Given the description of an element on the screen output the (x, y) to click on. 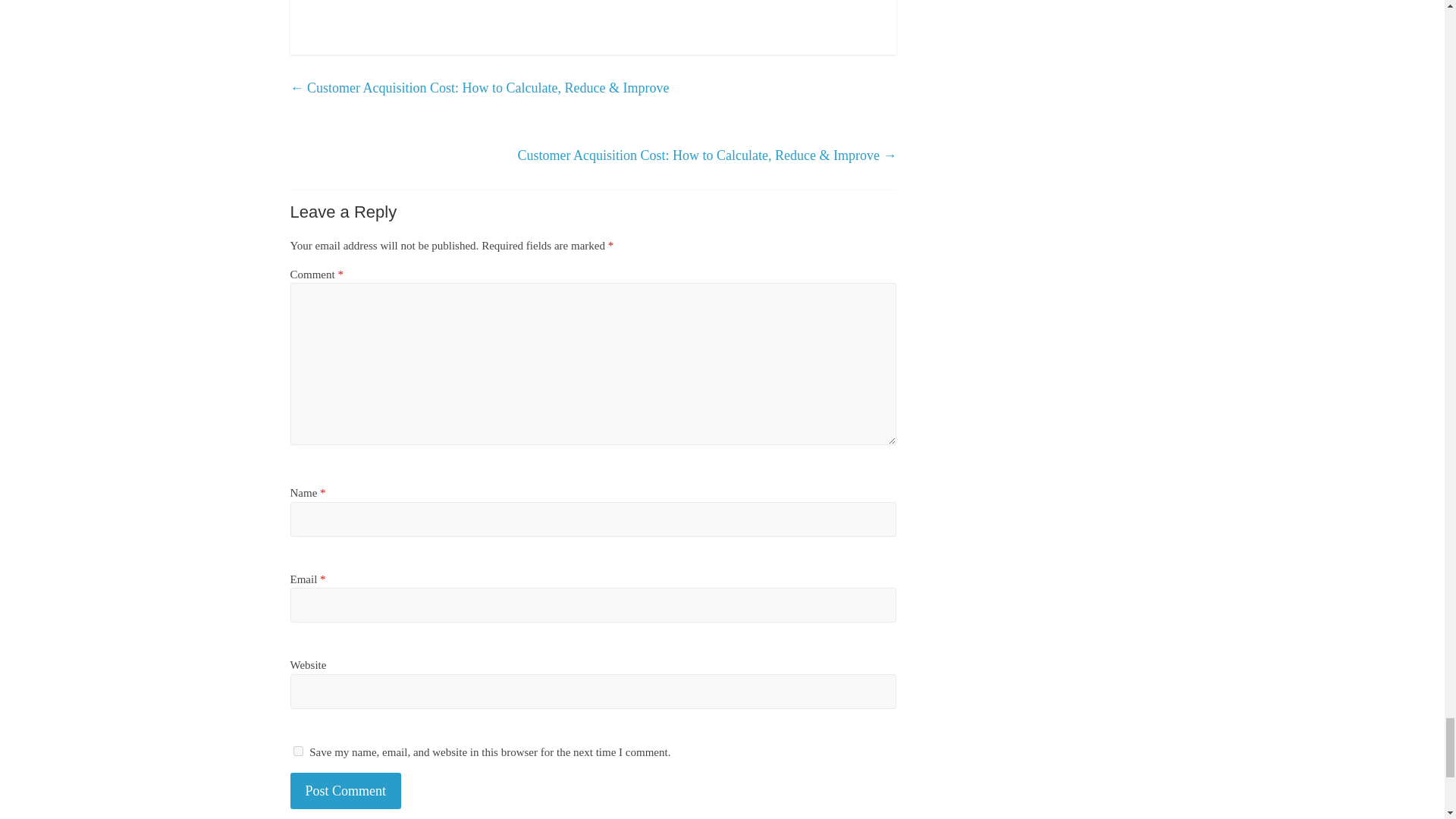
Post Comment (345, 791)
yes (297, 750)
Post Comment (345, 791)
